Given the description of an element on the screen output the (x, y) to click on. 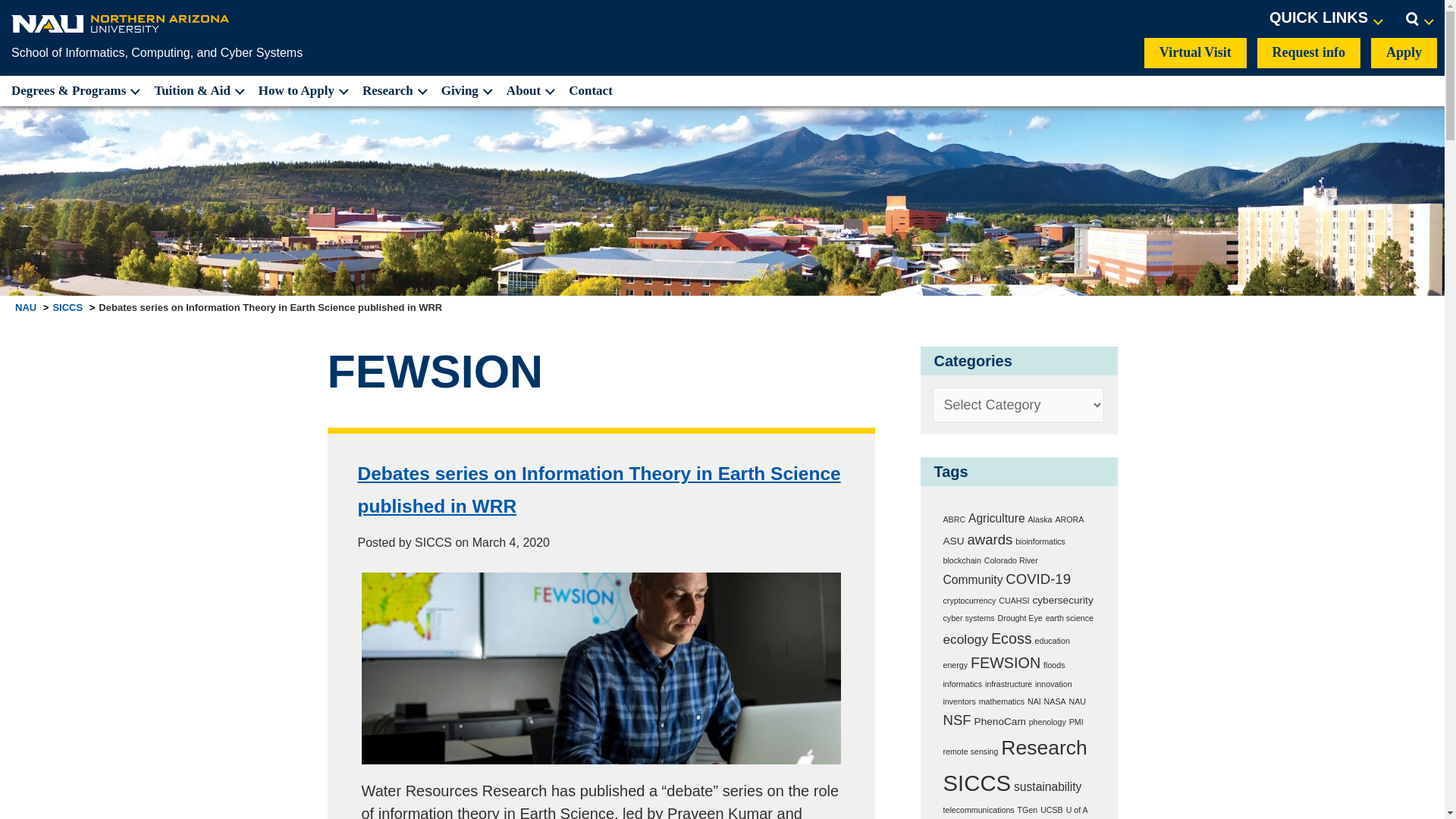
NAU Home (121, 22)
Virtual Visit (1195, 52)
Apply (1404, 52)
Request info (1309, 52)
QUICK LINKS (1325, 18)
School of Informatics, Computing, and Cyber Systems (157, 52)
